Given the description of an element on the screen output the (x, y) to click on. 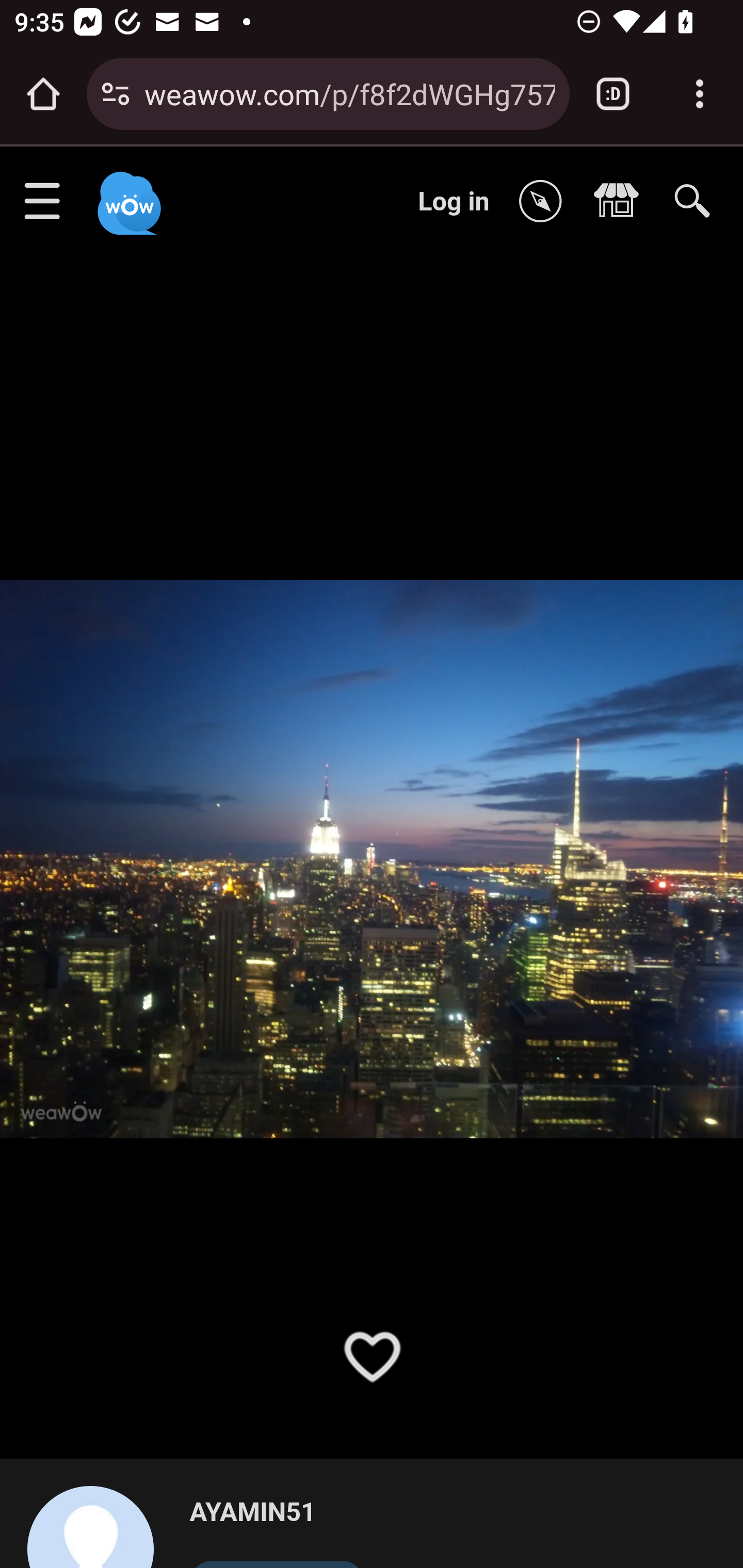
Open the home page (43, 93)
Connection is secure (115, 93)
Switch or close tabs (612, 93)
Customize and control Google Chrome (699, 93)
weawow.com/p/f8f2dWGHg7570911 (349, 92)
Weawow (127, 194)
 (545, 201)
 (621, 201)
Log in (453, 201)
AYAMIN51 (99, 1525)
AYAMIN51 (275, 1513)
